Given the description of an element on the screen output the (x, y) to click on. 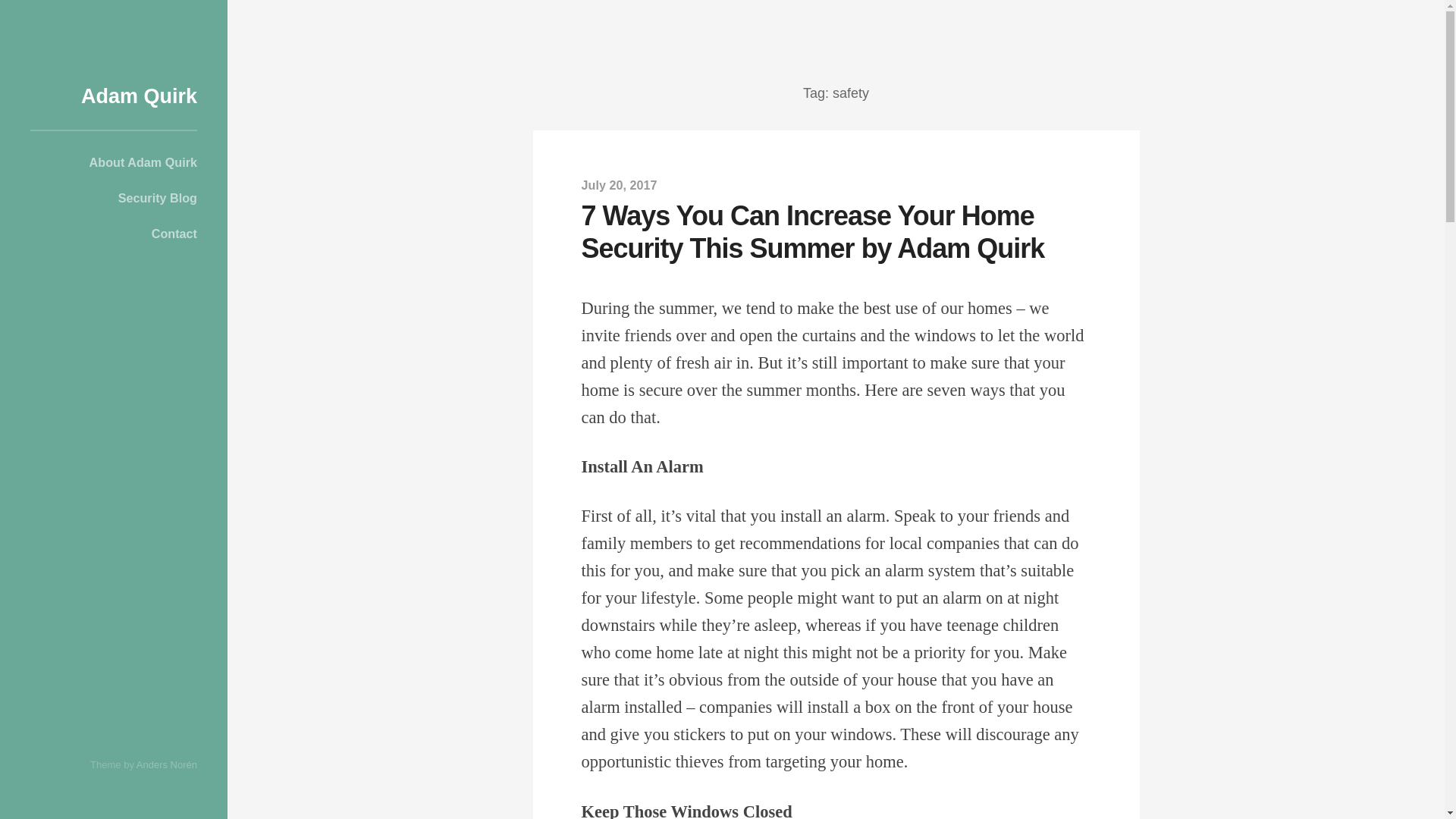
Adam Quirk (138, 96)
Security Blog (113, 199)
Contact (113, 235)
About Adam Quirk (113, 163)
July 20, 2017 (618, 184)
